Given the description of an element on the screen output the (x, y) to click on. 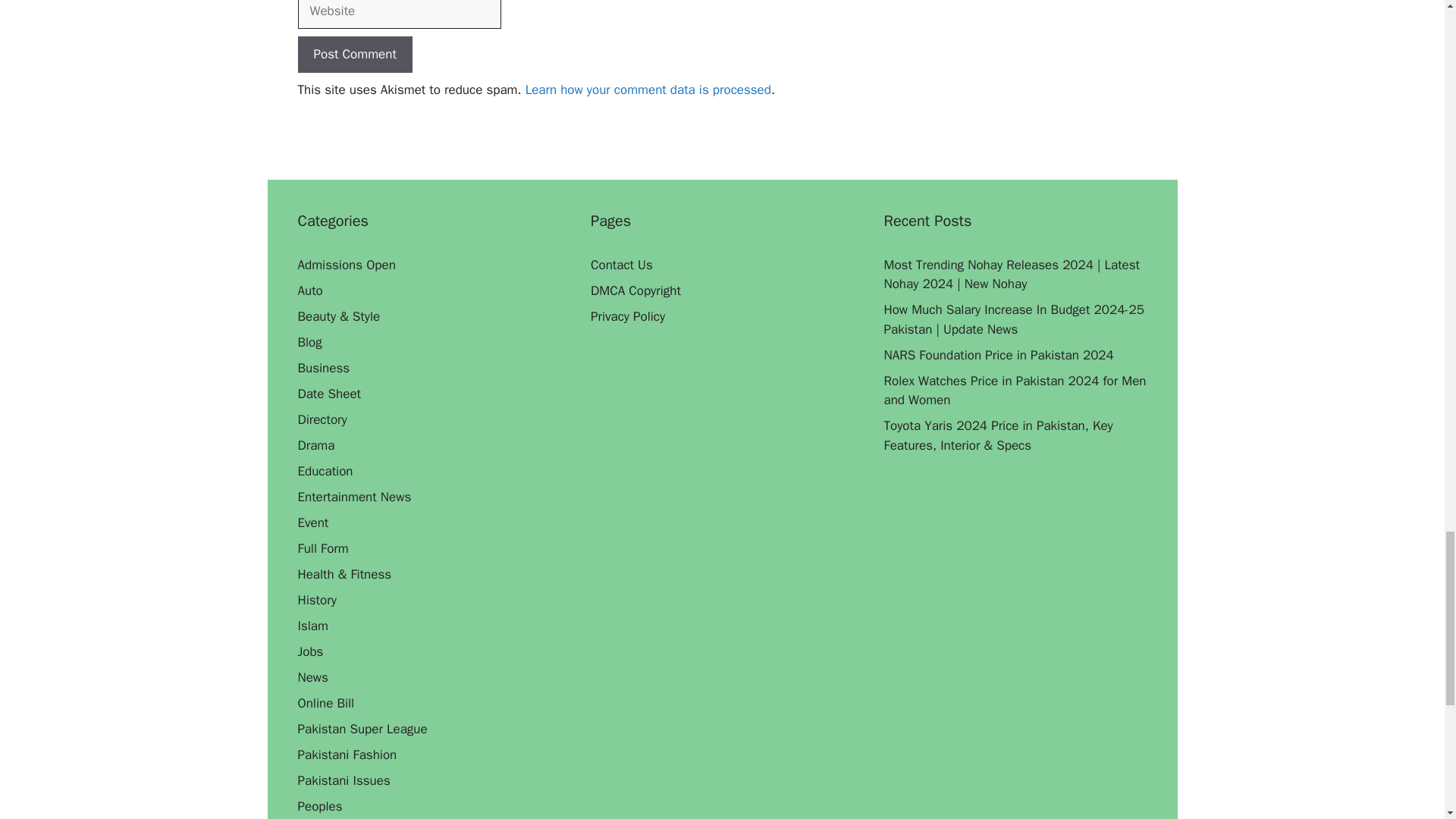
Learn how your comment data is processed (648, 89)
Post Comment (354, 54)
Admissions Open (345, 264)
Post Comment (354, 54)
